Given the description of an element on the screen output the (x, y) to click on. 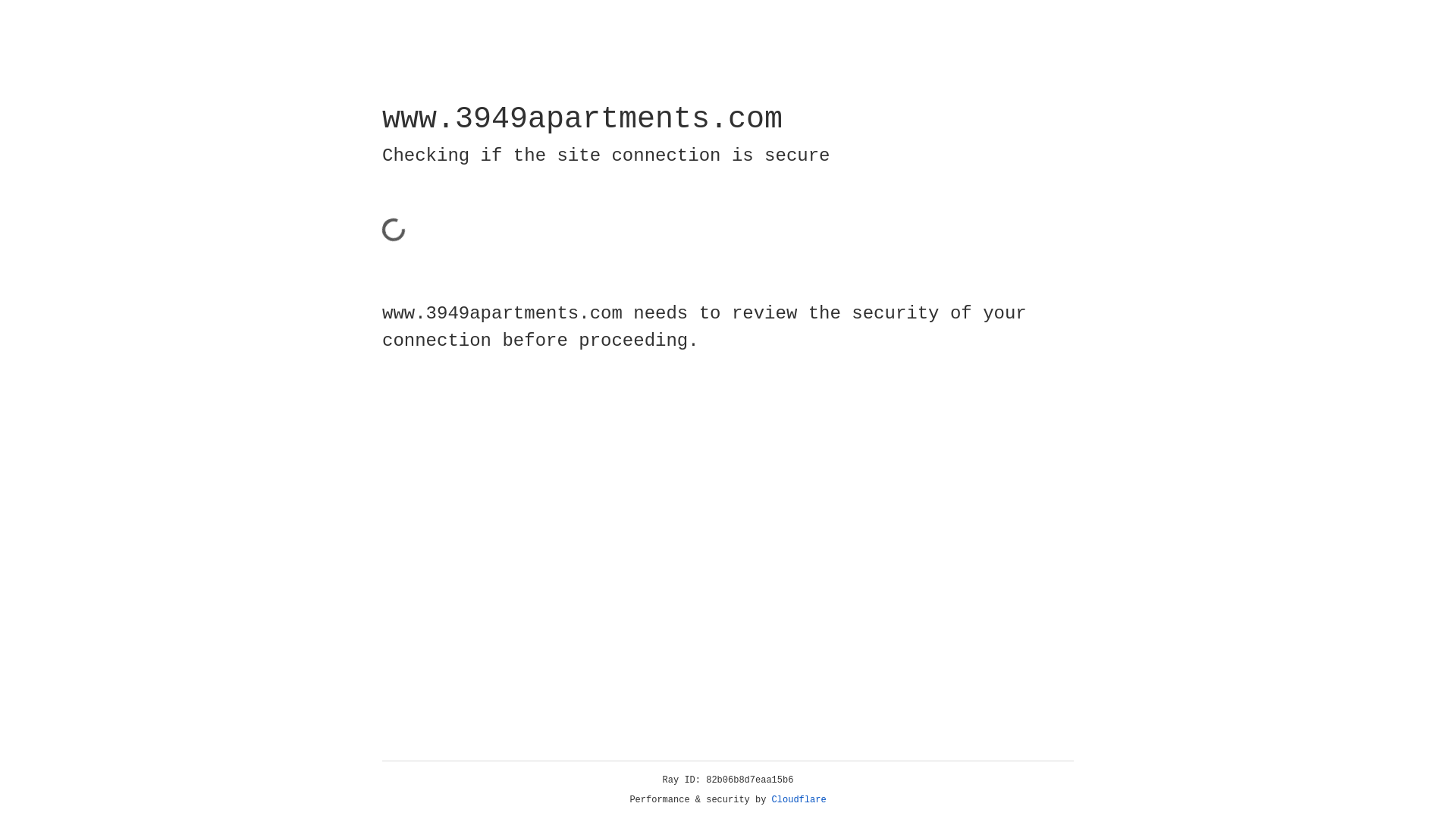
Cloudflare Element type: text (798, 799)
